Given the description of an element on the screen output the (x, y) to click on. 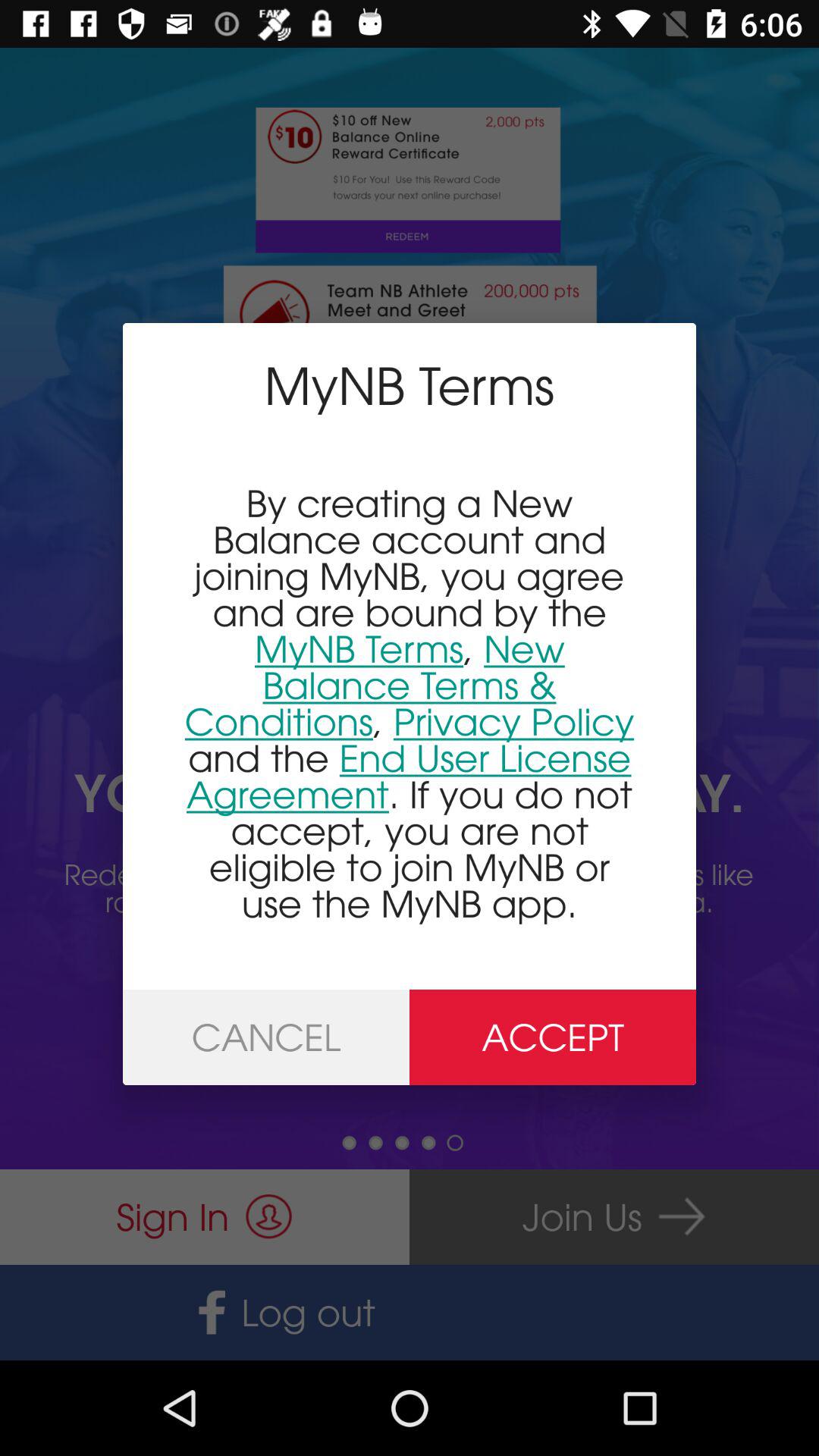
click the item at the center (409, 702)
